Given the description of an element on the screen output the (x, y) to click on. 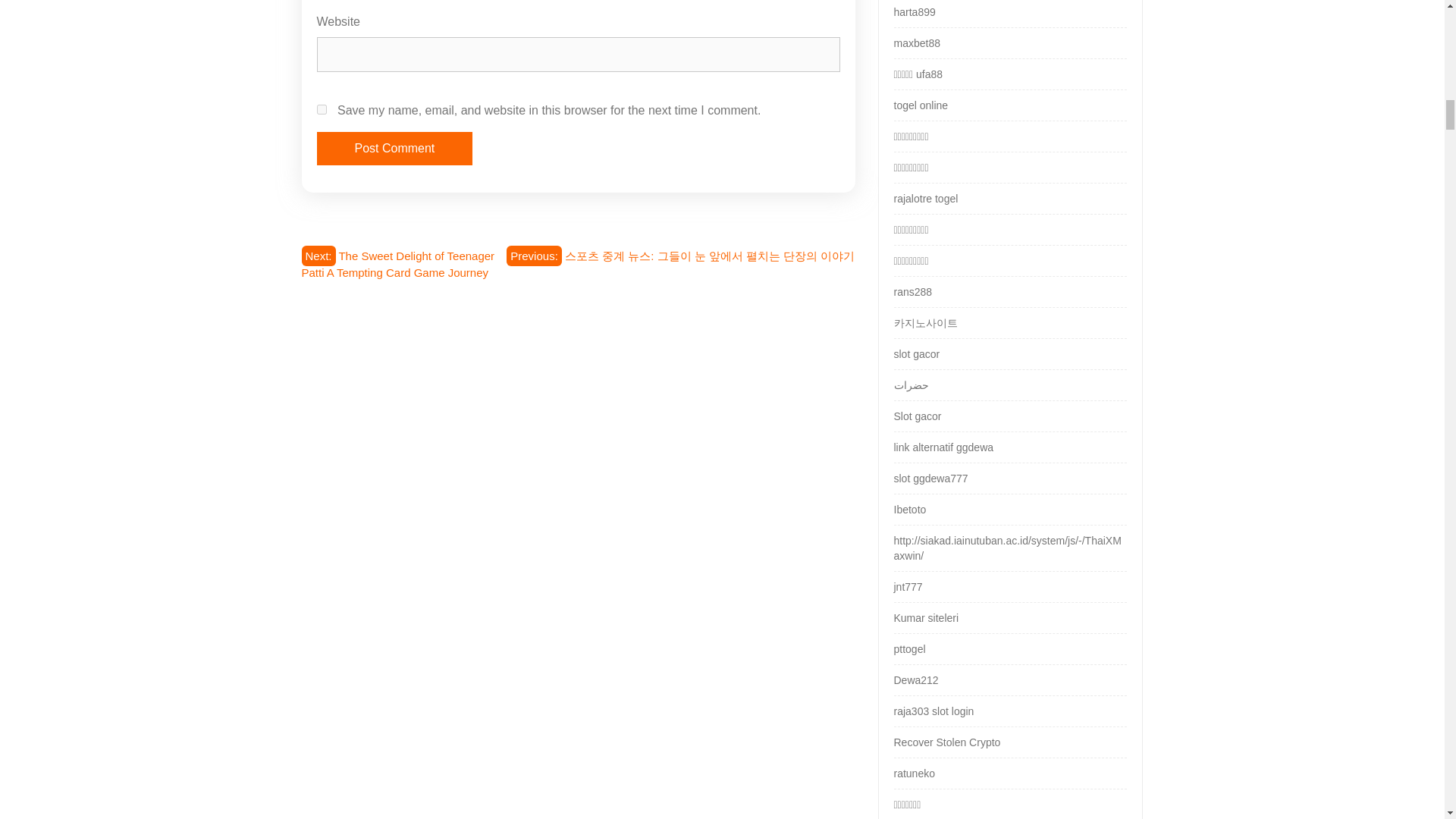
Post Comment (395, 148)
Post Comment (395, 148)
yes (321, 109)
